Given the description of an element on the screen output the (x, y) to click on. 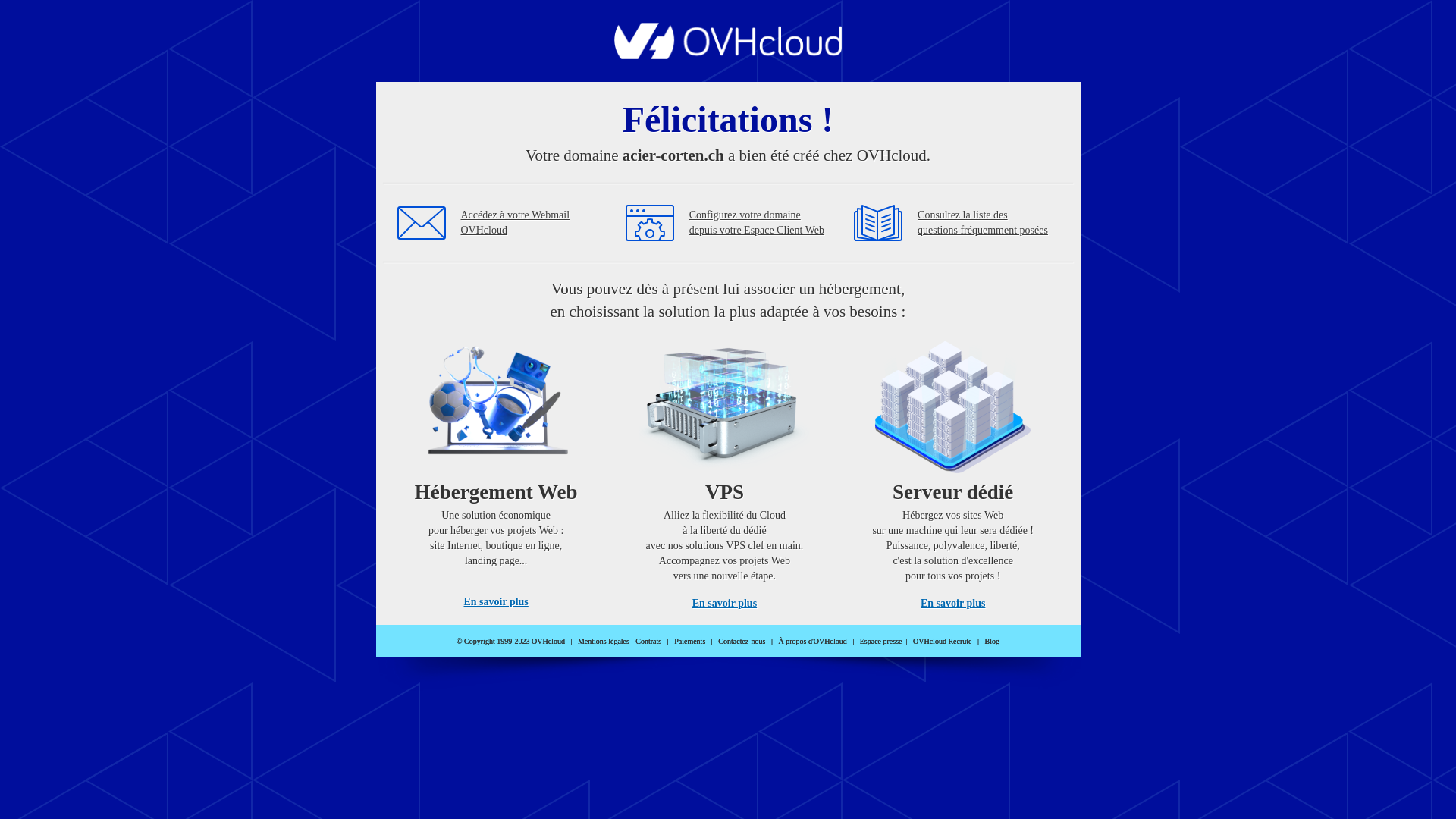
Espace presse Element type: text (880, 641)
Paiements Element type: text (689, 641)
En savoir plus Element type: text (495, 601)
En savoir plus Element type: text (724, 602)
Contactez-nous Element type: text (741, 641)
Configurez votre domaine
depuis votre Espace Client Web Element type: text (756, 222)
En savoir plus Element type: text (952, 602)
Blog Element type: text (992, 641)
VPS Element type: hover (724, 469)
OVHcloud Element type: hover (727, 54)
OVHcloud Recrute Element type: text (942, 641)
